Given the description of an element on the screen output the (x, y) to click on. 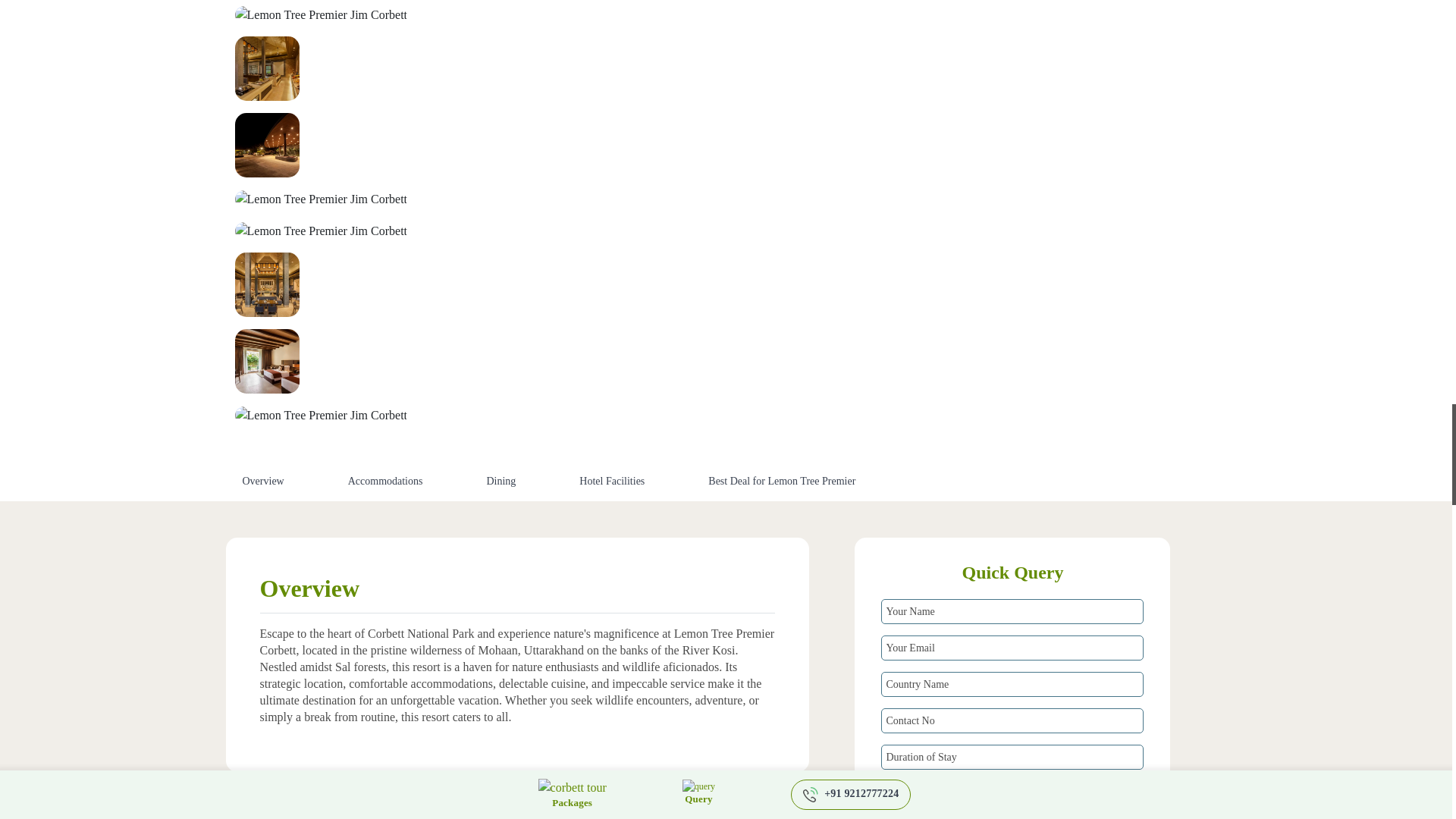
Best Deal for Lemon Tree Premier (781, 480)
Hotel Facilities (612, 480)
Accommodations (385, 480)
Overview (263, 480)
Dining (500, 480)
